Given the description of an element on the screen output the (x, y) to click on. 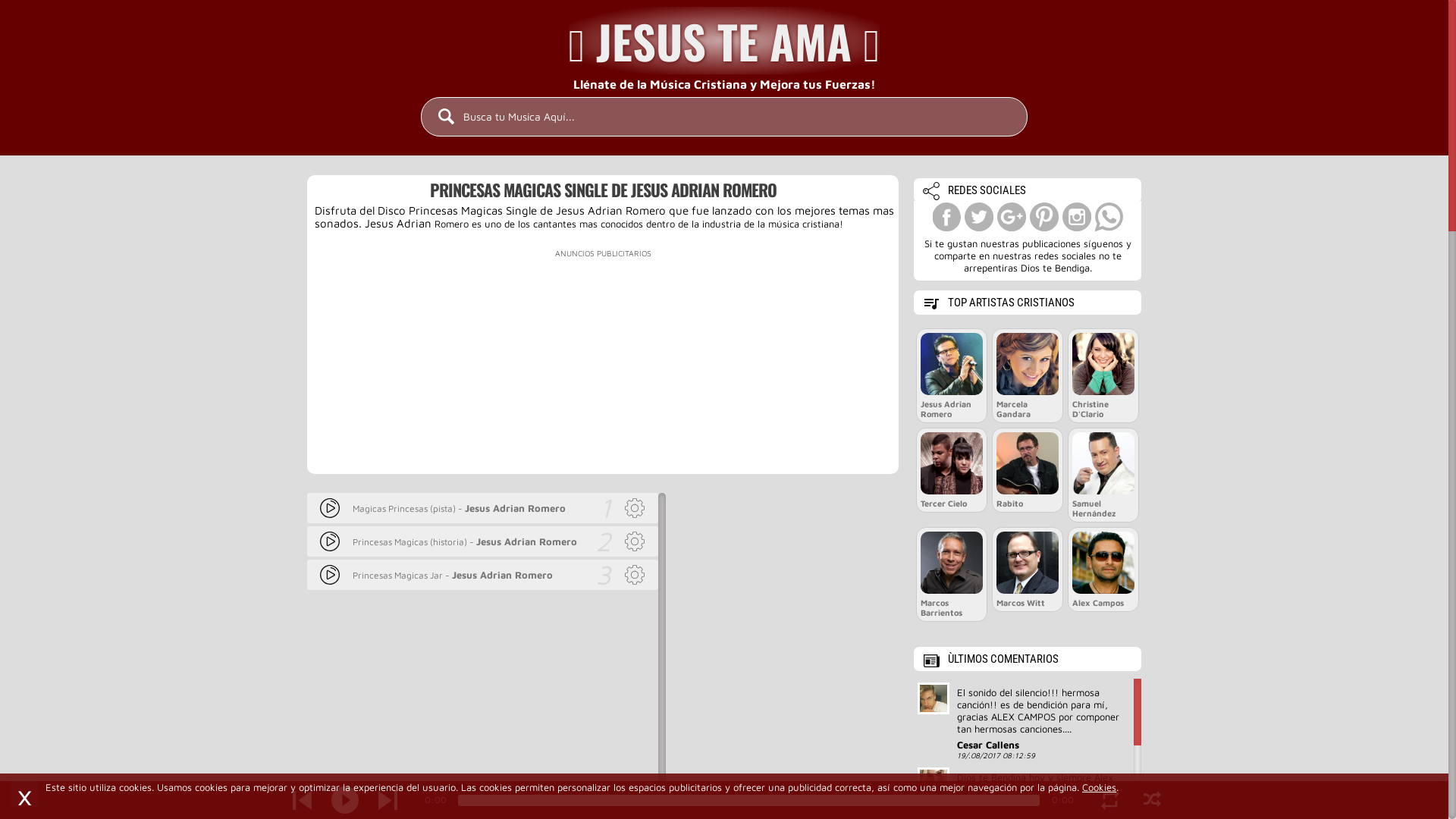
Tercer Cielo Element type: text (951, 469)
Rabito Element type: text (1027, 469)
Advertisement Element type: hover (602, 367)
Jesus Adrian Romero Element type: text (951, 375)
Marcos Witt Element type: text (1027, 569)
Marcela Gandara Element type: text (1027, 375)
Marcos Barrientos Element type: text (951, 574)
Cookies Element type: text (1099, 787)
Alex Campos Element type: text (1103, 569)
Christine D'Clario Element type: text (1103, 375)
